Given the description of an element on the screen output the (x, y) to click on. 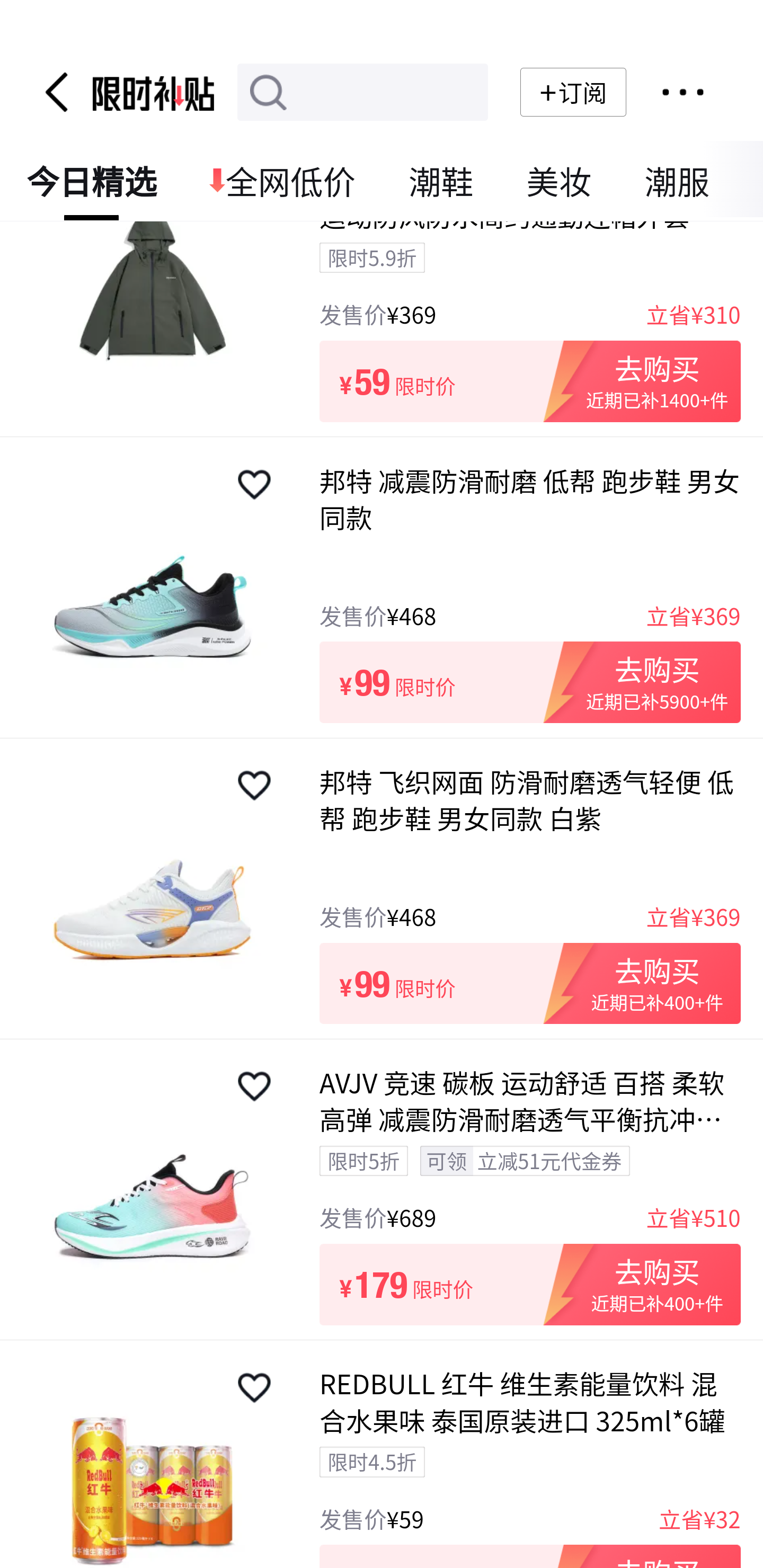
+订阅 (572, 92)
resize,w_60 (254, 484)
resize,w_60 (254, 786)
resize,w_60 (254, 1086)
resize,w_60 (254, 1388)
